Given the description of an element on the screen output the (x, y) to click on. 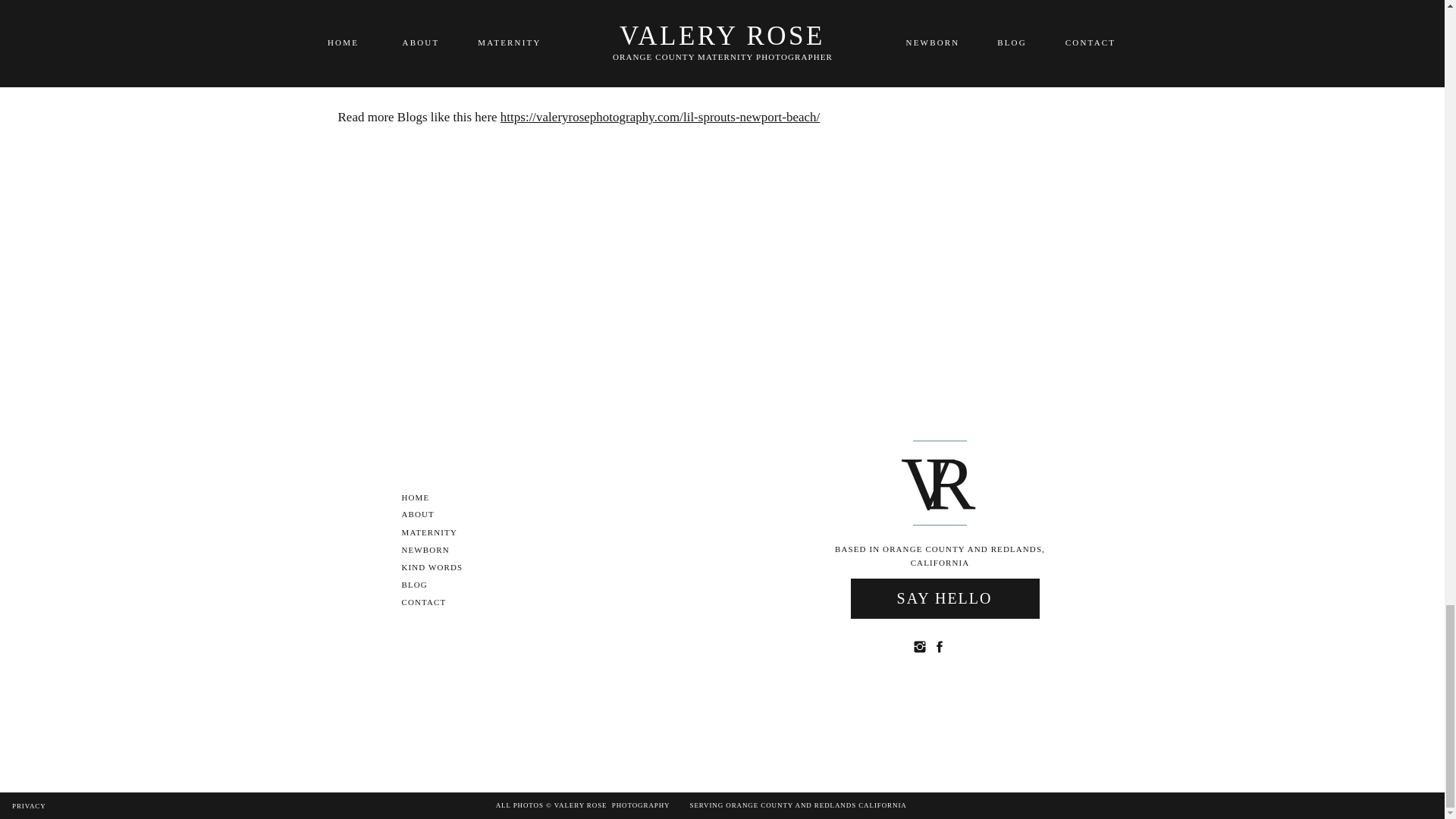
MATERNITY (436, 532)
HOME (425, 498)
BLOG (426, 585)
NEWBORN (436, 550)
ABOUT (429, 514)
